Given the description of an element on the screen output the (x, y) to click on. 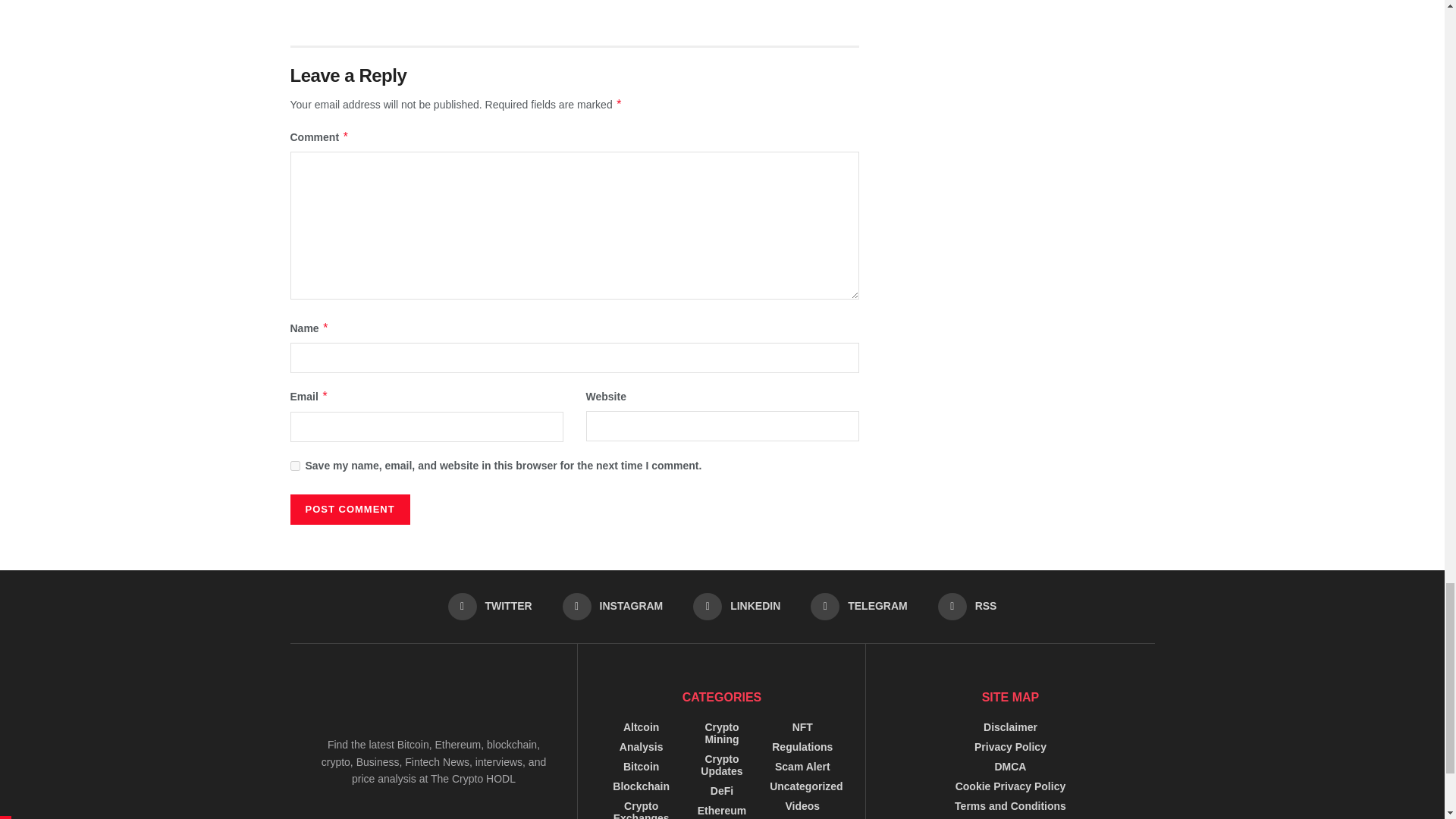
Post Comment (349, 509)
yes (294, 465)
